Given the description of an element on the screen output the (x, y) to click on. 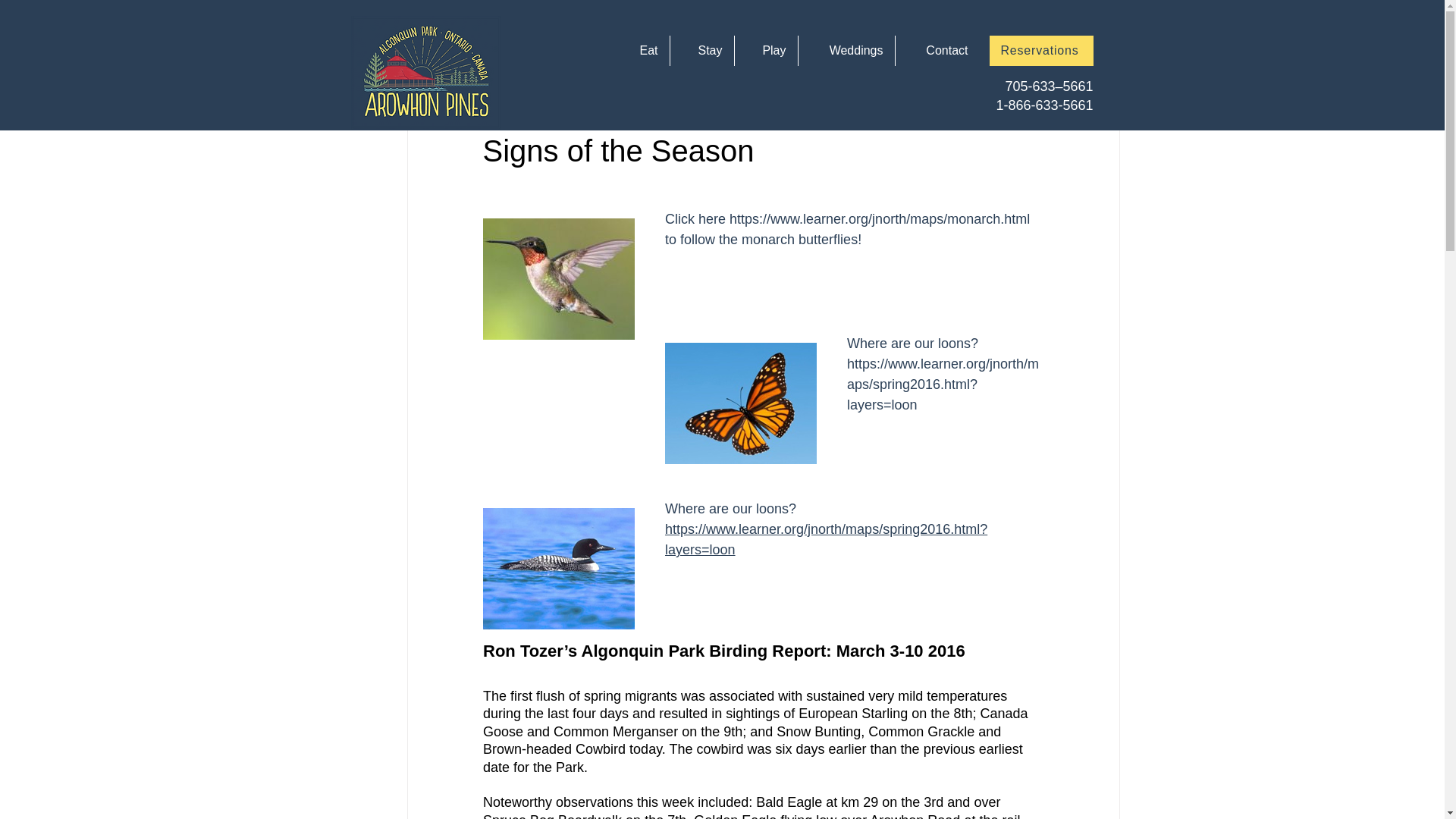
All Posts (414, 42)
Weddings (845, 51)
Events (753, 42)
Foodies (683, 42)
Play (764, 51)
1-866-633-5661 (1044, 105)
Eat (639, 51)
Contributors (932, 42)
Reservations (1040, 51)
Contact (936, 51)
Newsletters (499, 42)
Arowhon-Logo-Colour-H.png (425, 72)
Merchandise (835, 42)
Stay (701, 51)
